Given the description of an element on the screen output the (x, y) to click on. 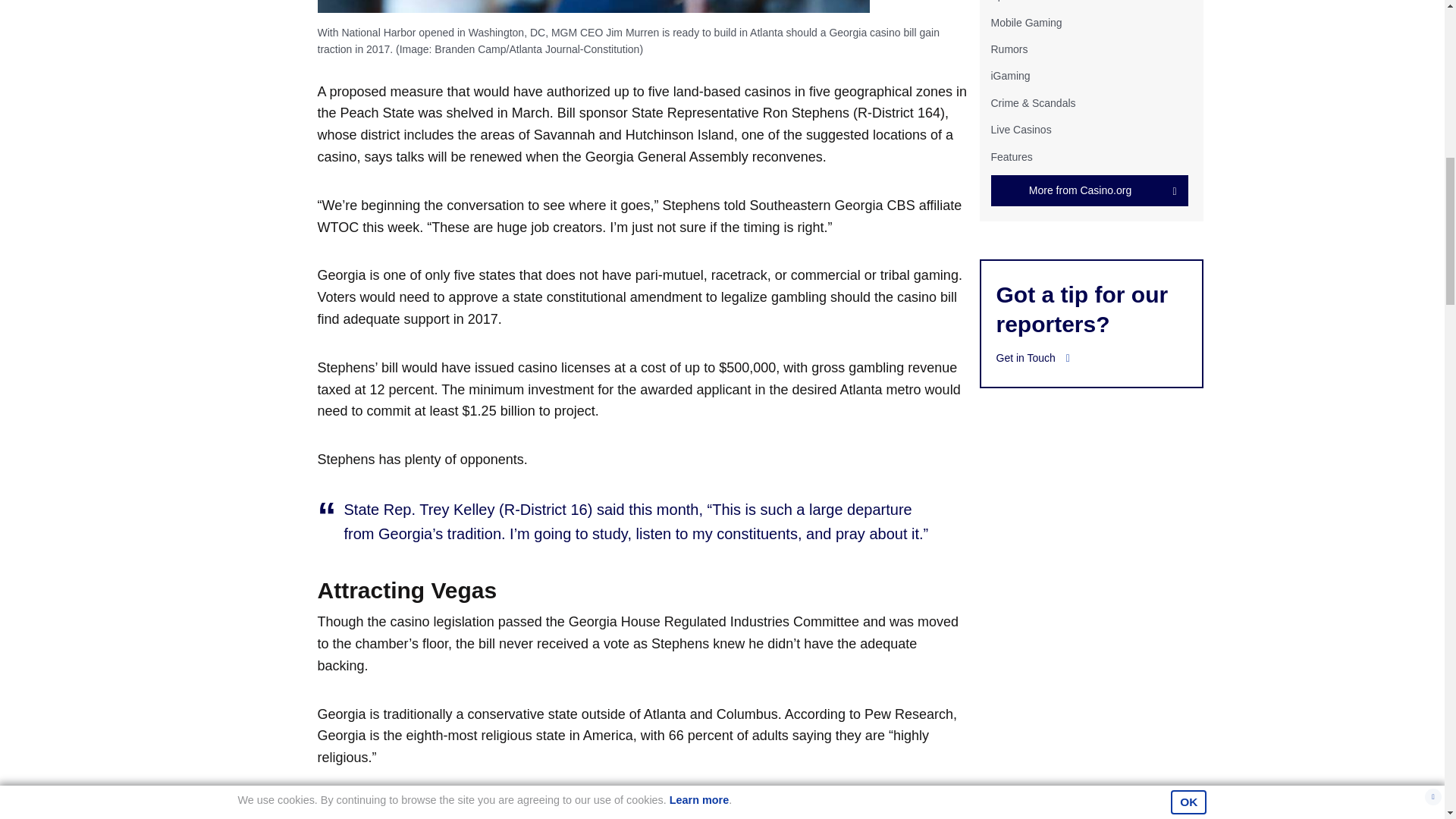
iGaming (1009, 75)
Mobile Gaming (1025, 22)
Sports (1005, 0)
Rumors (1008, 49)
Live Casinos (1020, 129)
Sports (1005, 0)
Rumors (1008, 49)
Features (1011, 155)
Mobile Gaming (1025, 22)
iGaming (1009, 75)
